Given the description of an element on the screen output the (x, y) to click on. 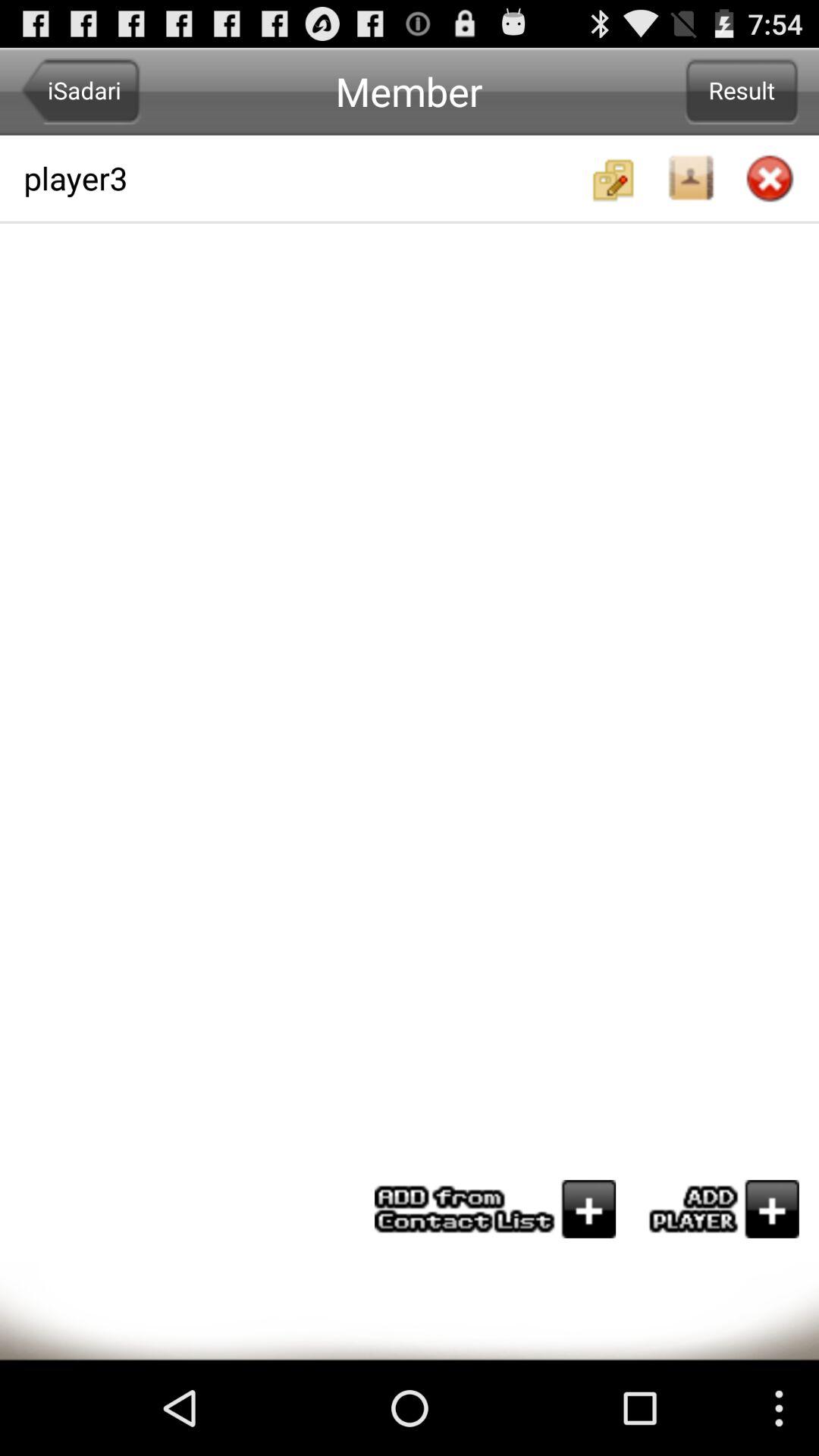
add player button (717, 1209)
